Given the description of an element on the screen output the (x, y) to click on. 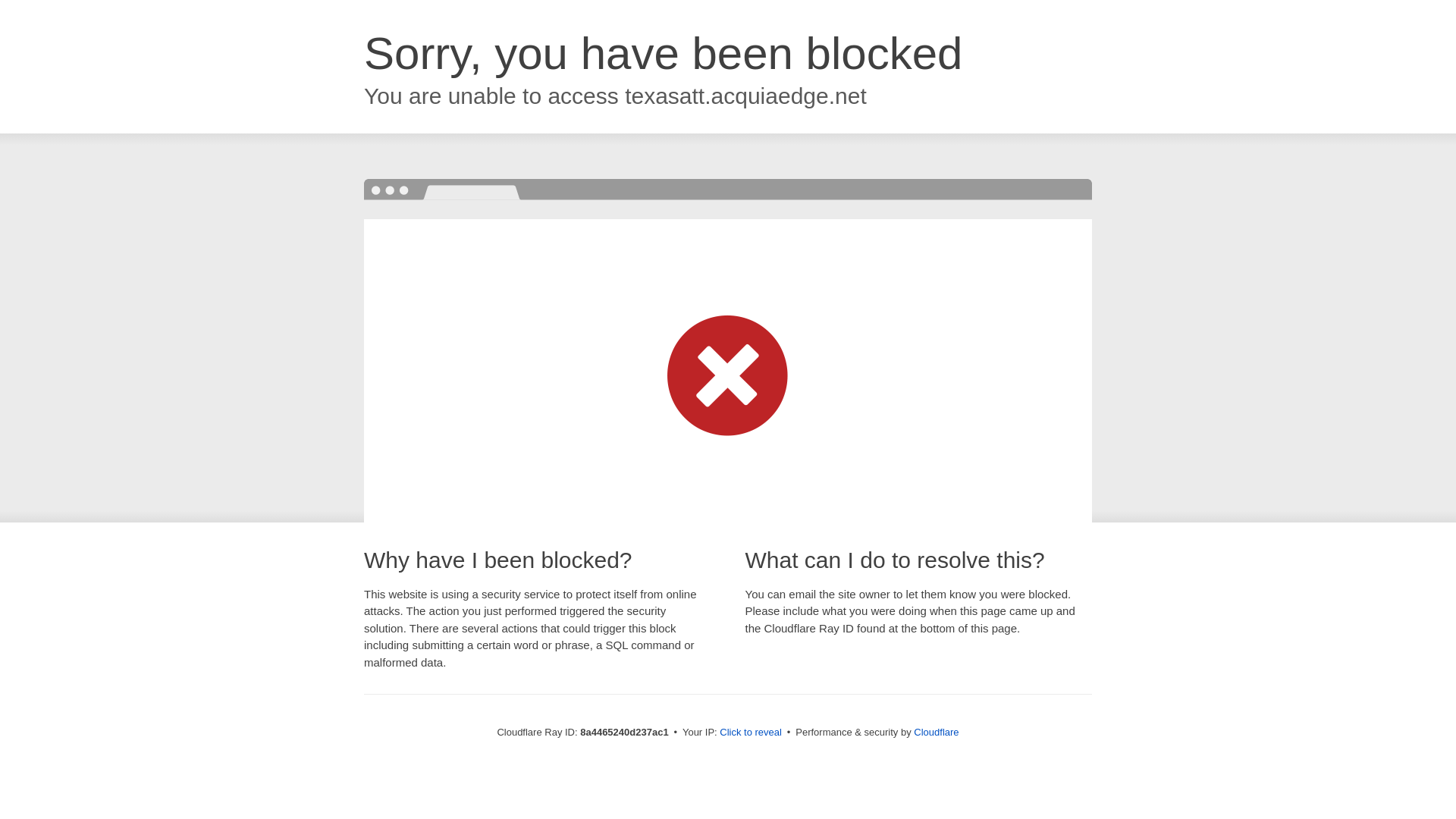
Cloudflare (936, 731)
Click to reveal (750, 732)
